Given the description of an element on the screen output the (x, y) to click on. 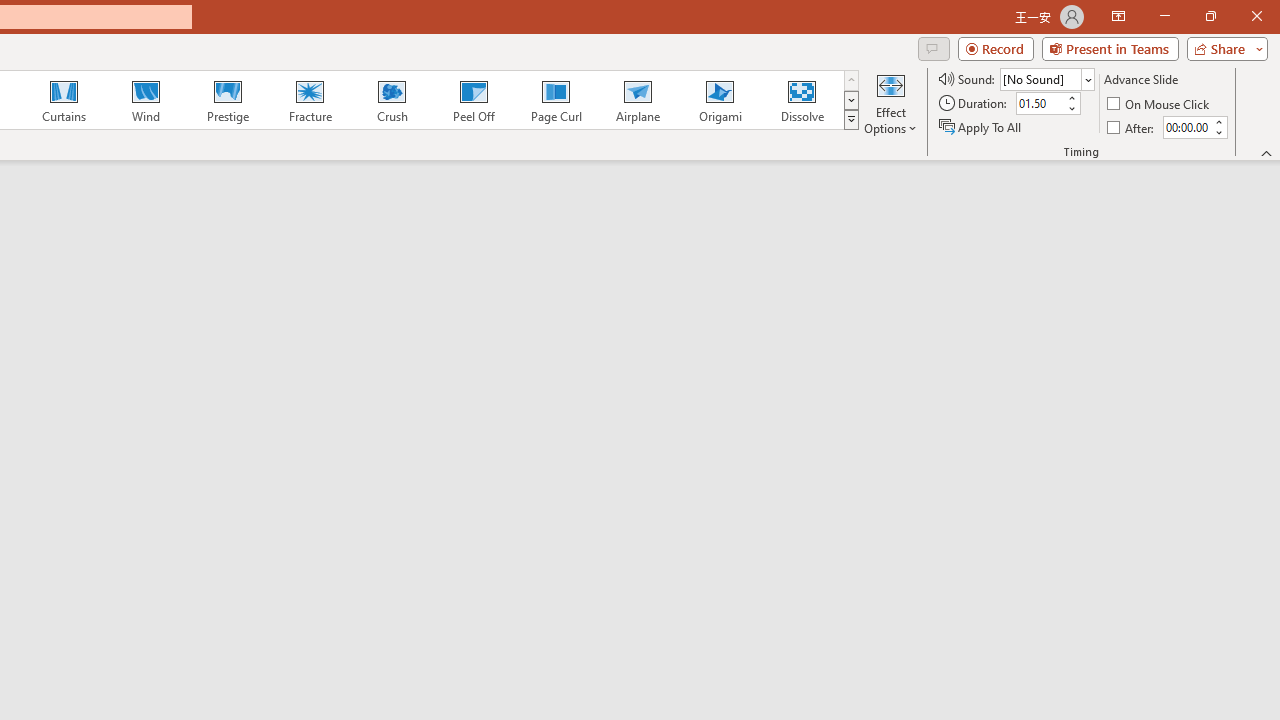
Effect Options (890, 102)
Fracture (309, 100)
Apply To All (981, 126)
Crush (391, 100)
Peel Off (473, 100)
Airplane (637, 100)
Curtains (63, 100)
